Given the description of an element on the screen output the (x, y) to click on. 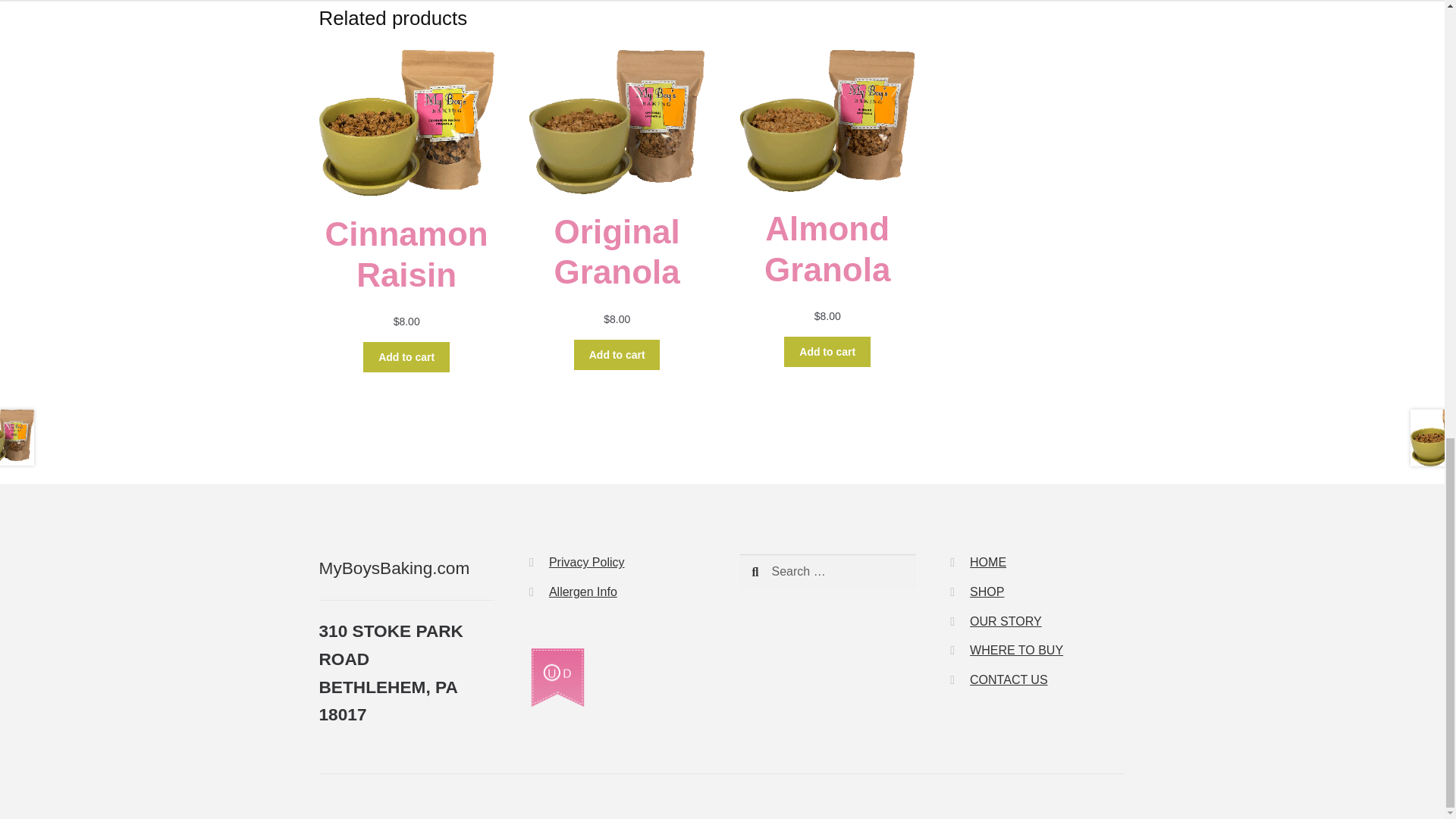
Privacy Policy (586, 562)
Add to cart (827, 351)
Add to cart (617, 354)
Allergen Info (582, 591)
Add to cart (405, 357)
Kosher Dairy (557, 677)
